Given the description of an element on the screen output the (x, y) to click on. 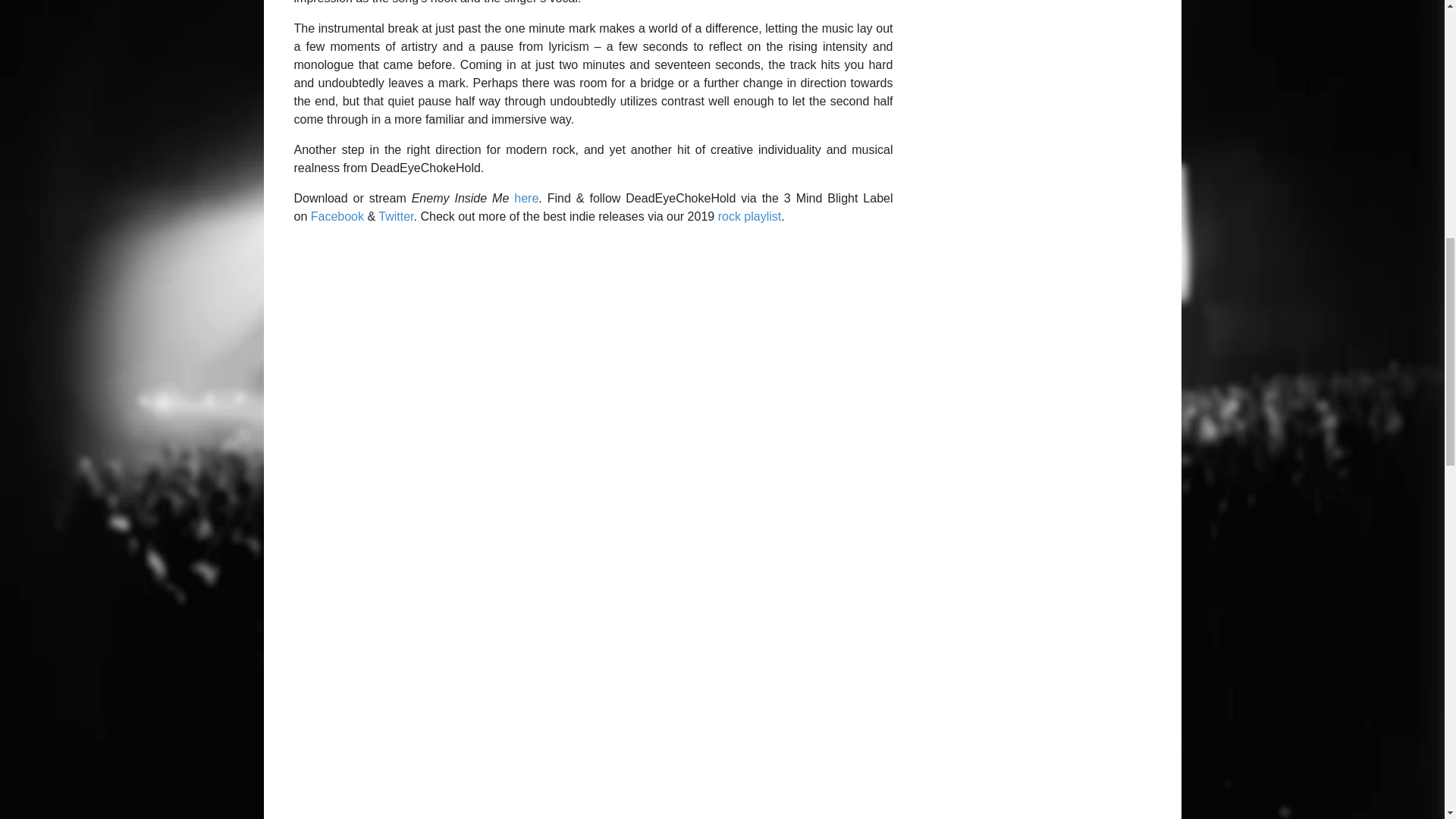
Facebook (337, 215)
Twitter (395, 215)
rock playlist (749, 215)
here (525, 197)
